Given the description of an element on the screen output the (x, y) to click on. 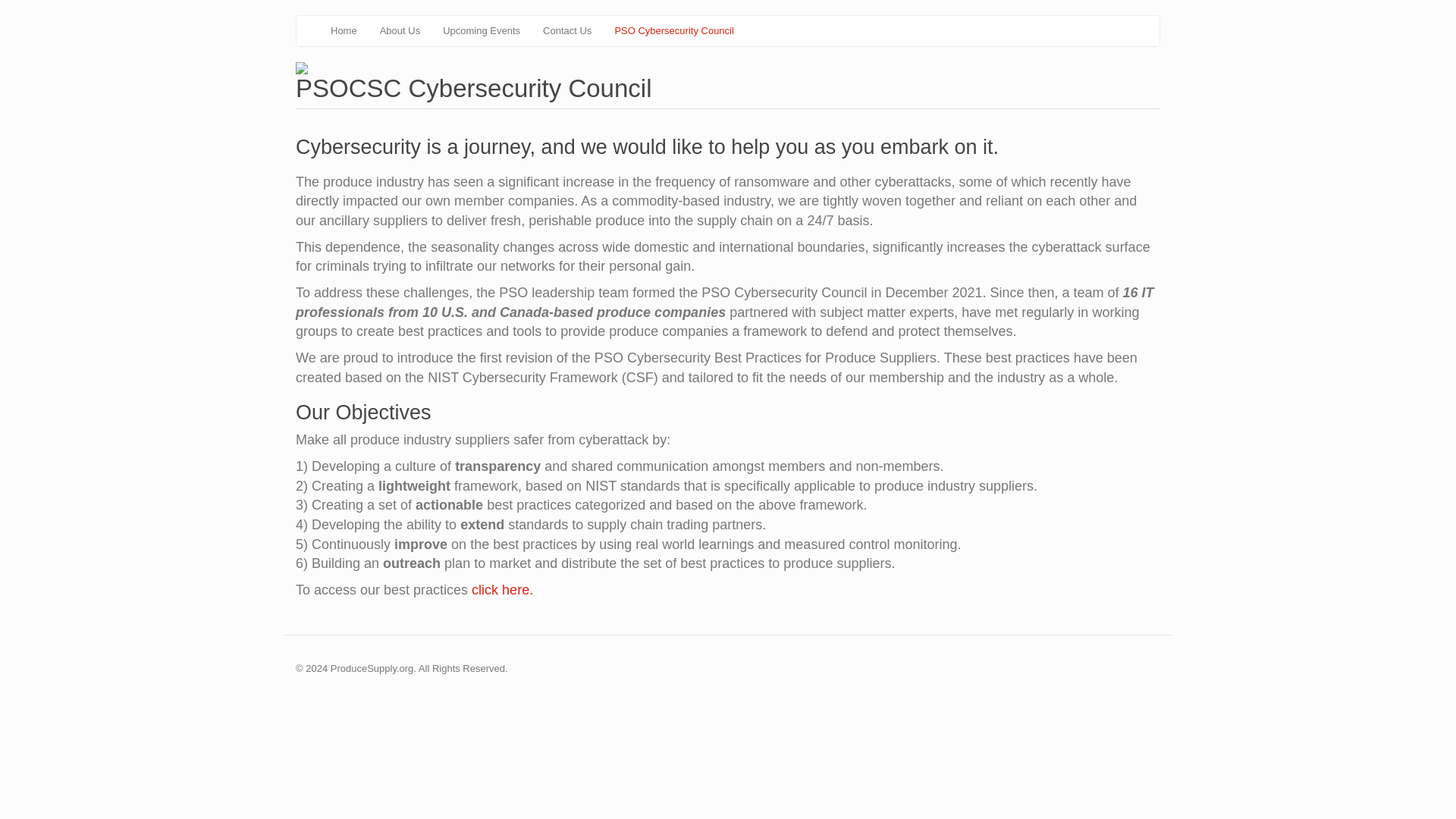
click here. (499, 589)
PSO Cybersecurity Council (673, 30)
Home (343, 30)
About Us (399, 30)
Contact Us (566, 30)
Upcoming Events (480, 30)
Members and History (399, 30)
